Given the description of an element on the screen output the (x, y) to click on. 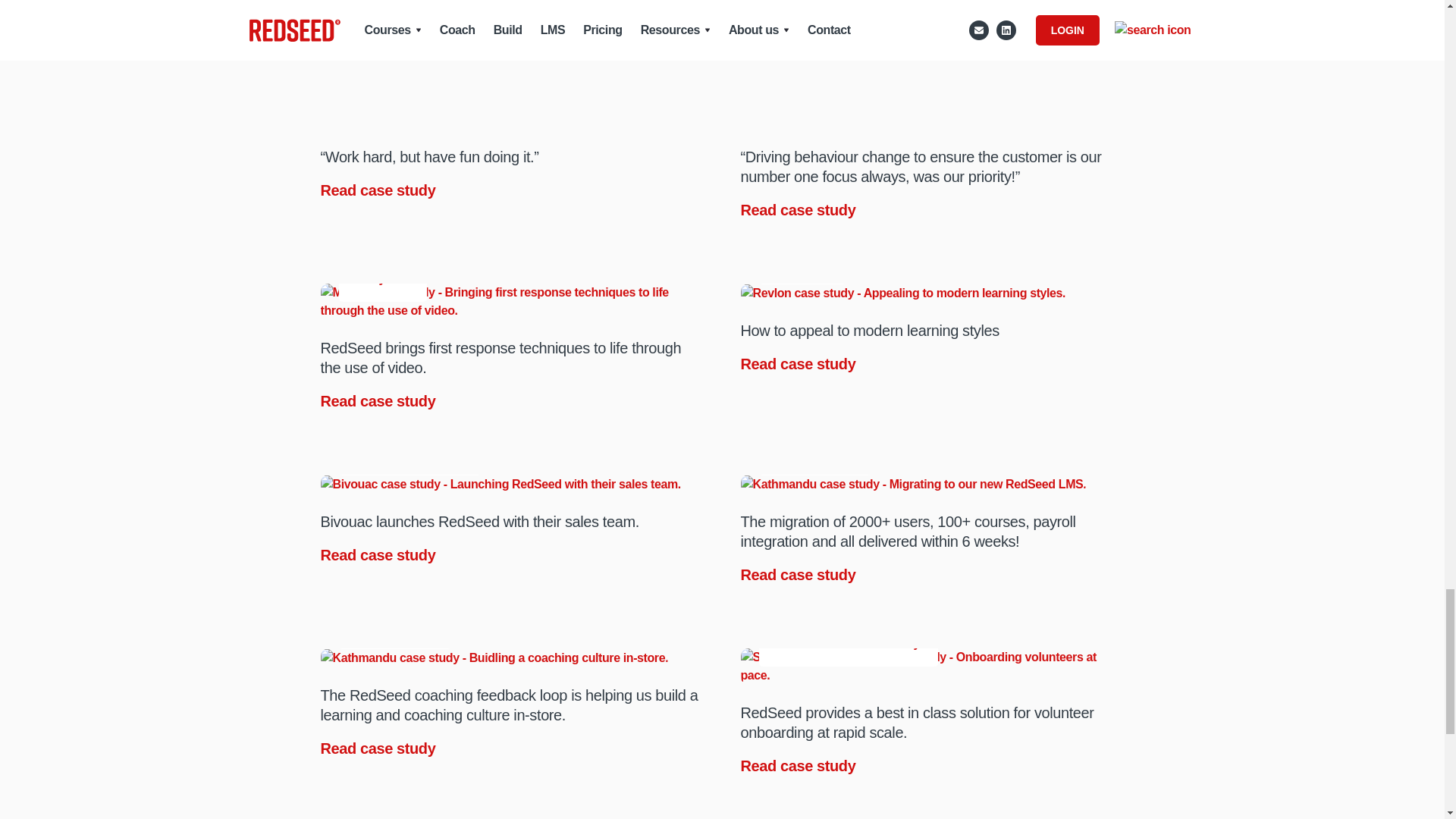
Read case study (379, 189)
Read case study (799, 209)
Read case study (379, 555)
Read case study (379, 401)
Read case study (799, 363)
